Given the description of an element on the screen output the (x, y) to click on. 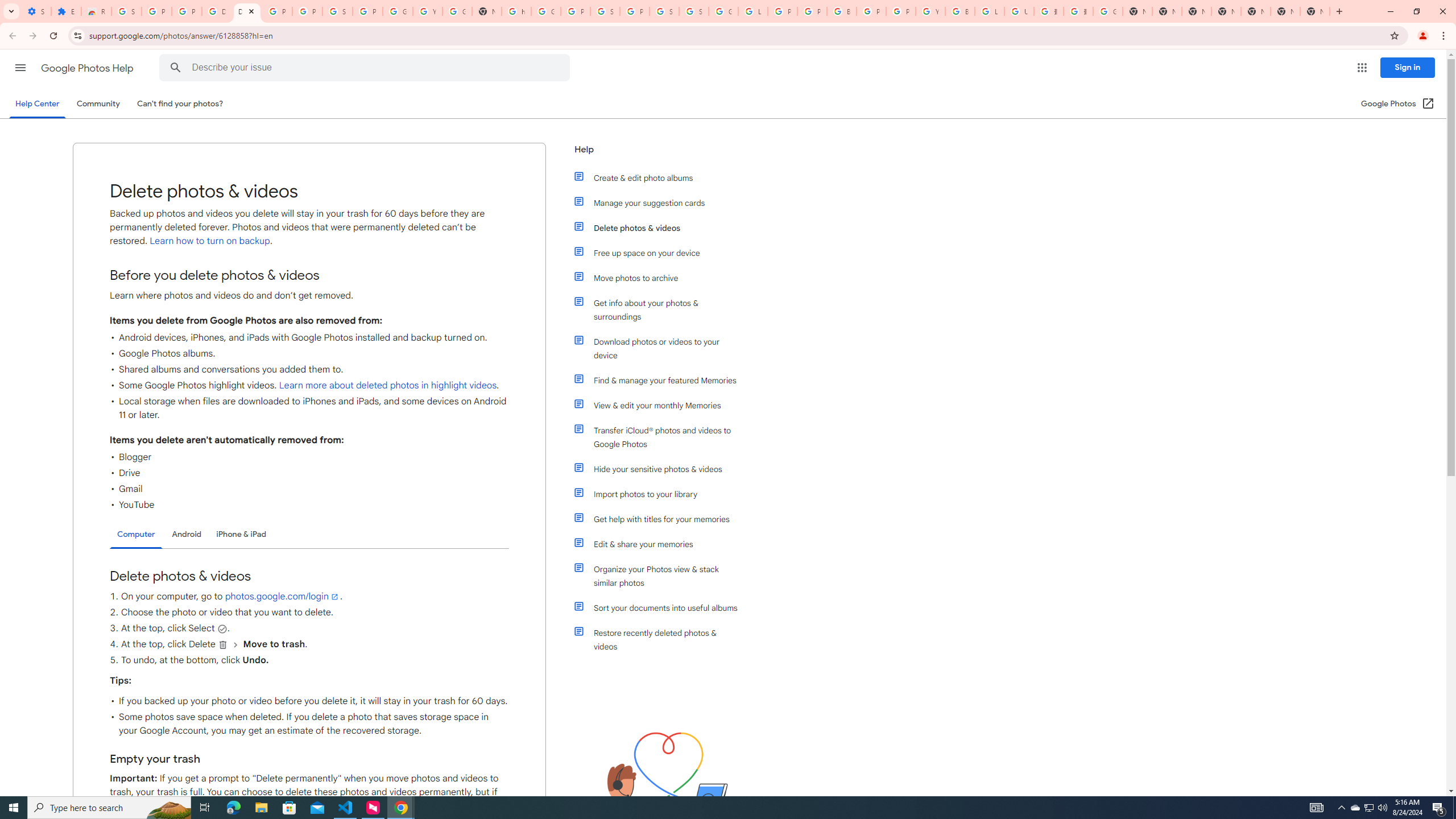
Main menu (20, 67)
View & edit your monthly Memories (661, 405)
New Tab (1314, 11)
Help Center (36, 103)
Sign in - Google Accounts (126, 11)
Import photos to your library (661, 493)
